Given the description of an element on the screen output the (x, y) to click on. 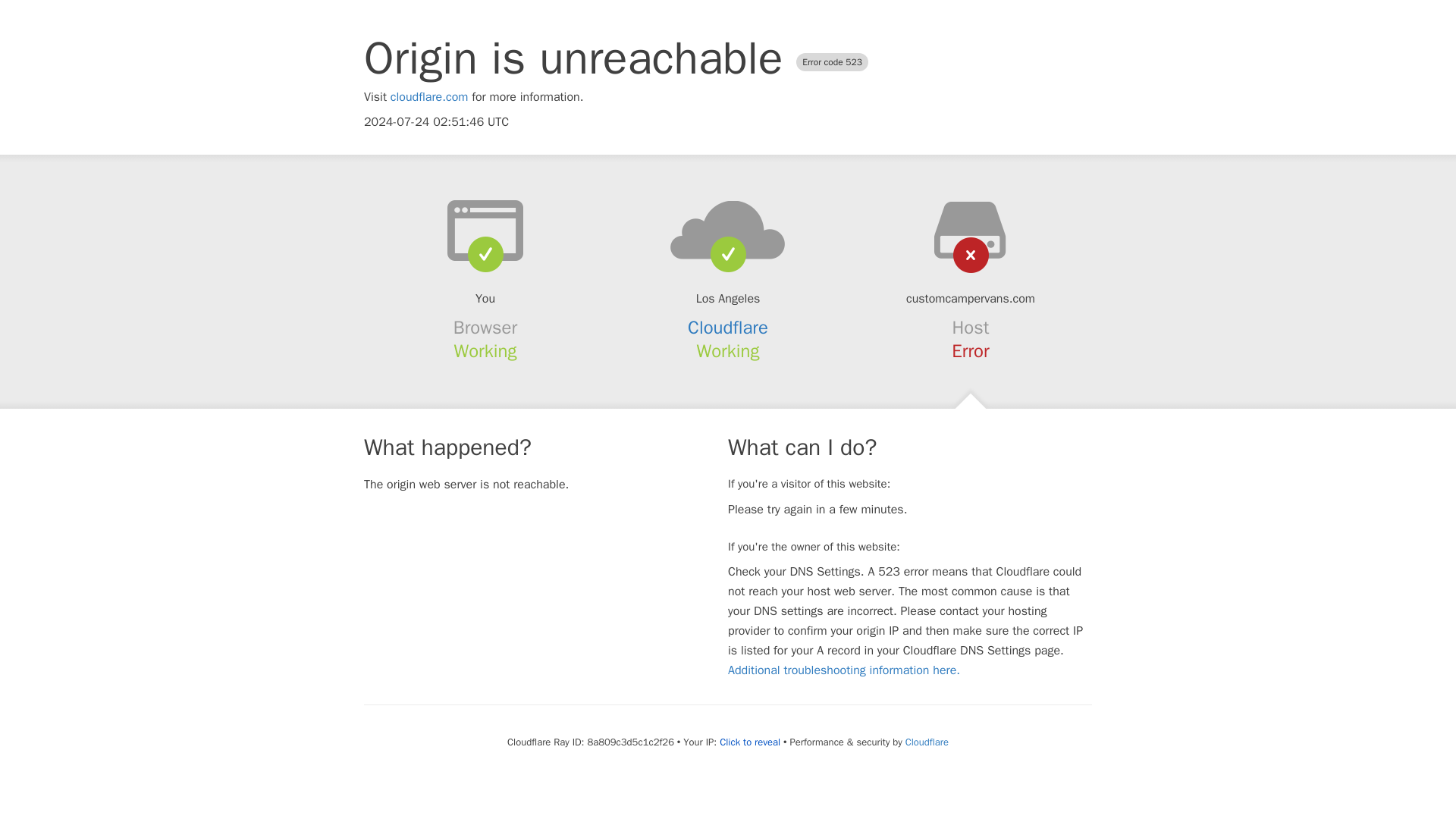
Additional troubleshooting information here. (843, 670)
Click to reveal (749, 742)
cloudflare.com (429, 96)
Cloudflare (727, 327)
Cloudflare (927, 741)
